Given the description of an element on the screen output the (x, y) to click on. 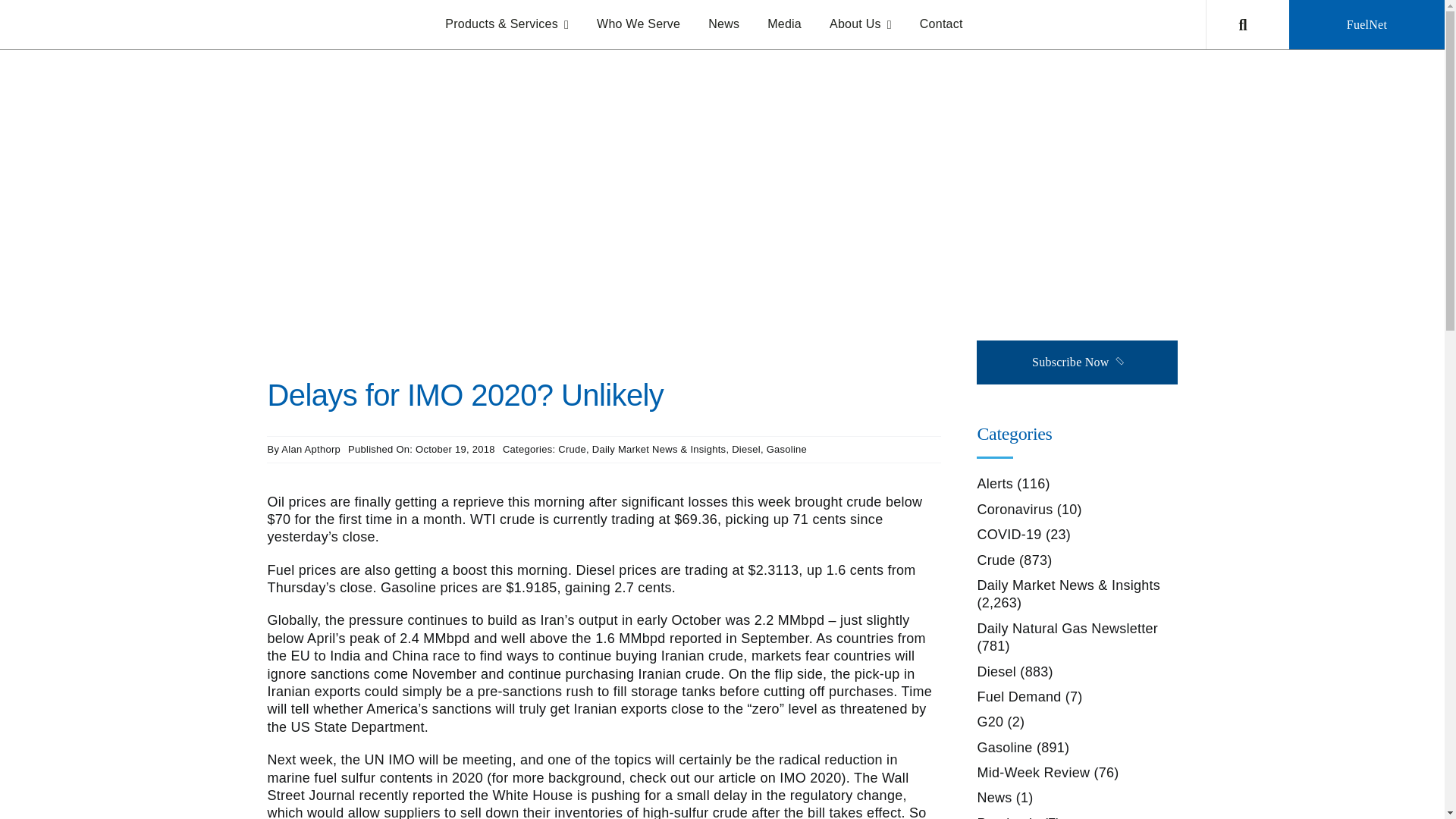
Posts by Alan Apthorp (310, 449)
Who We Serve (638, 24)
Contact (940, 24)
About Us (860, 24)
News (724, 24)
PMAG10.19 (462, 225)
ngn-icon (1094, 144)
Media (784, 24)
fn-icon (1018, 144)
